Given the description of an element on the screen output the (x, y) to click on. 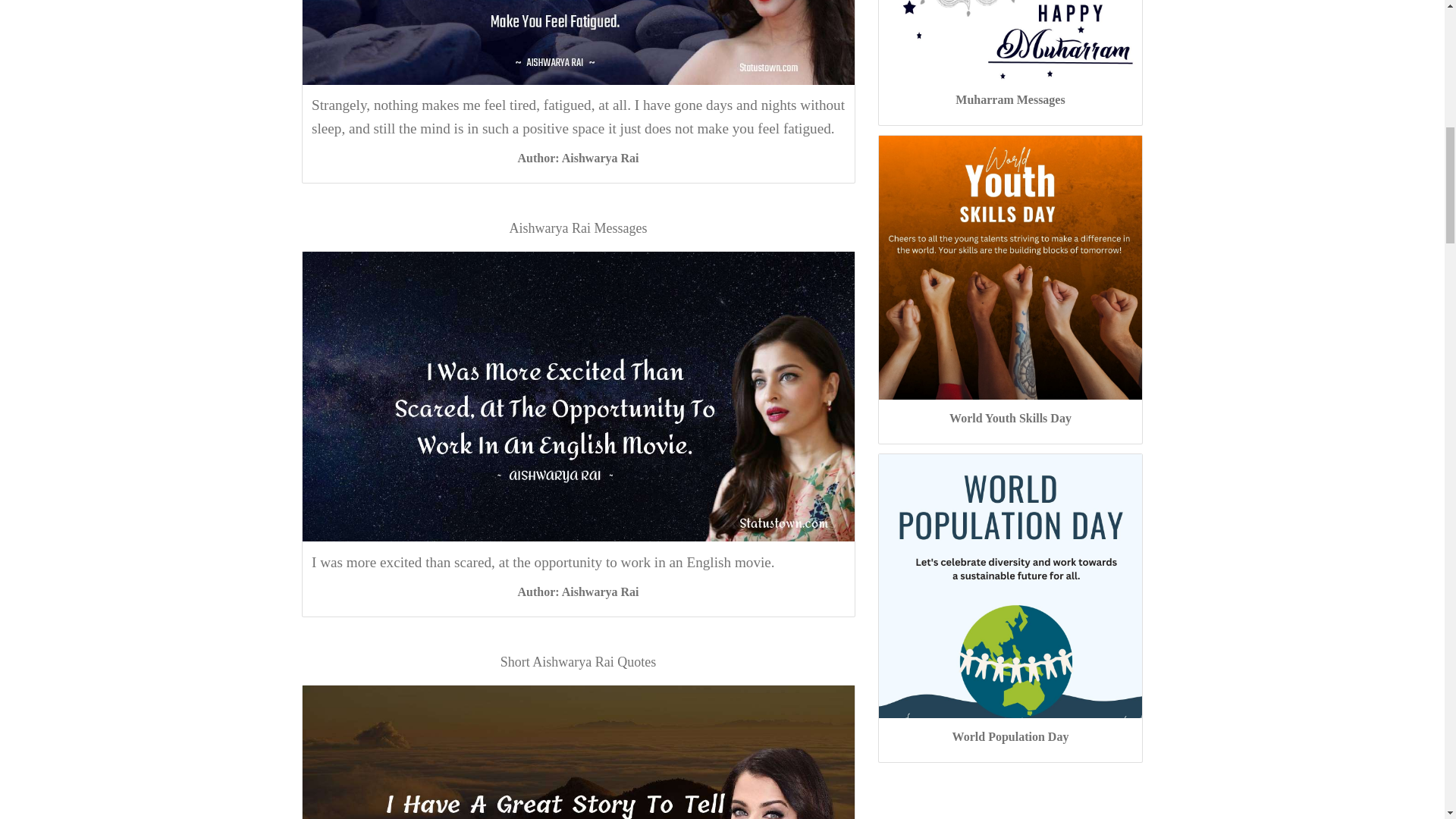
Muharram Messages (1009, 99)
World Population Day (1010, 736)
World Youth Skills Day (1010, 418)
